Given the description of an element on the screen output the (x, y) to click on. 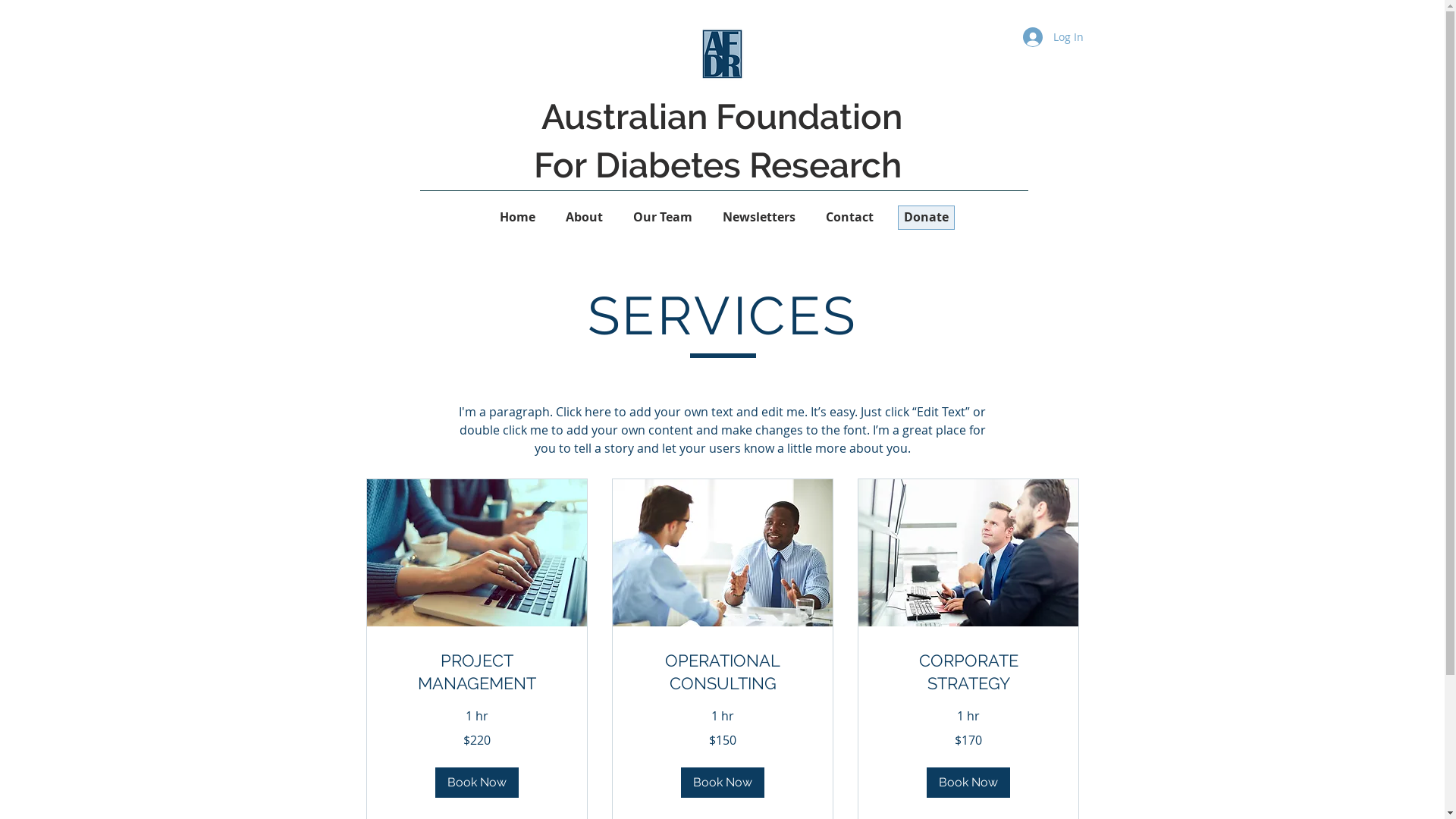
Our Team Element type: text (662, 216)
OPERATIONAL CONSULTING Element type: text (721, 671)
Newsletters Element type: text (758, 216)
Log In Element type: text (1052, 36)
PROJECT MANAGEMENT Element type: text (475, 671)
Home Element type: text (517, 216)
Contact Element type: text (849, 216)
Book Now Element type: text (476, 782)
Donate Element type: text (925, 216)
Book Now Element type: text (722, 782)
Book Now Element type: text (968, 782)
About Element type: text (584, 216)
Australian Foundation For  Element type: text (717, 140)
CORPORATE STRATEGY Element type: text (967, 671)
